Given the description of an element on the screen output the (x, y) to click on. 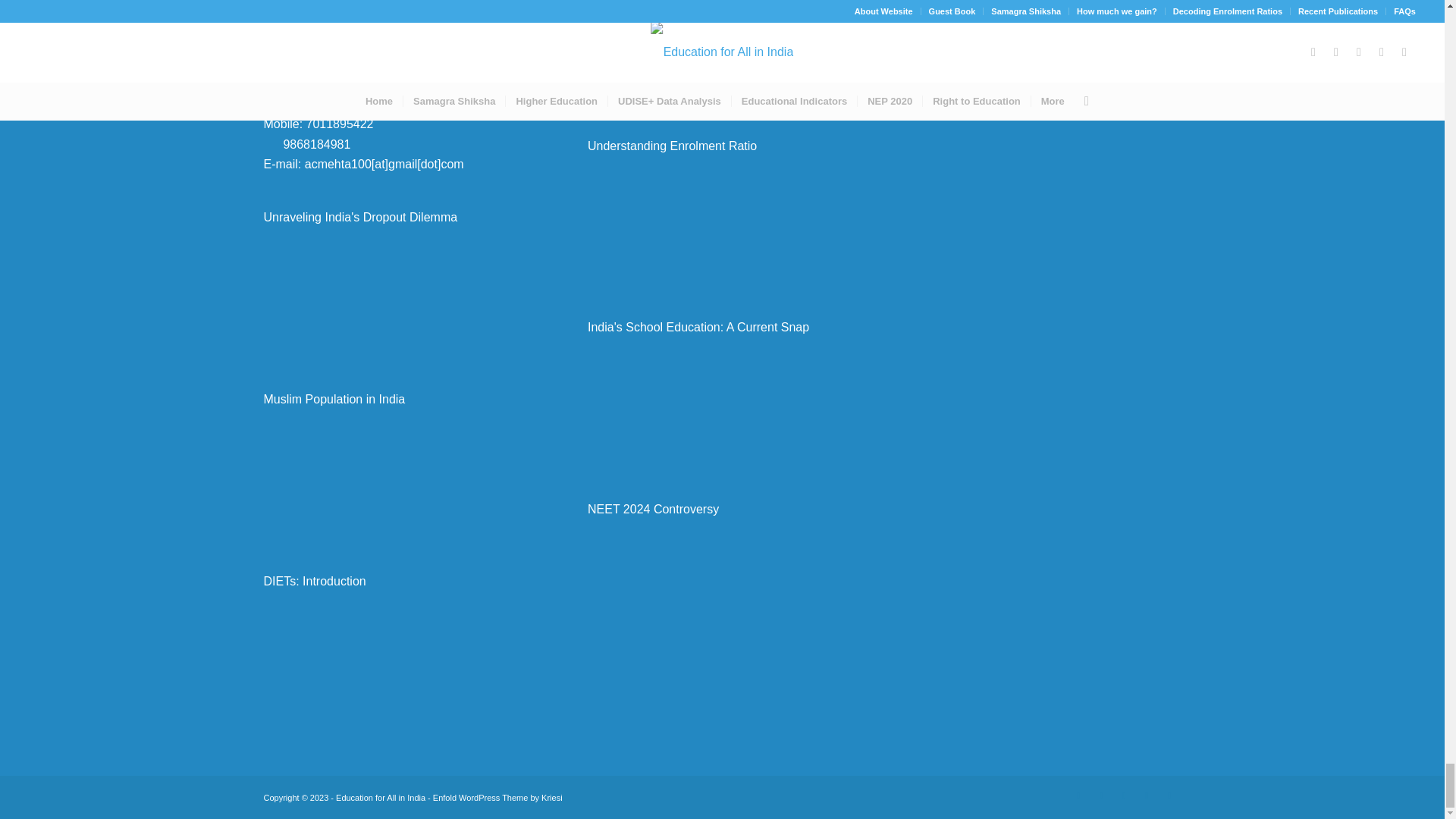
YouTube video player (397, 657)
YouTube video player (397, 294)
whatsapp logo (269, 141)
YouTube video player (397, 475)
YouTube video player (722, 53)
